Given the description of an element on the screen output the (x, y) to click on. 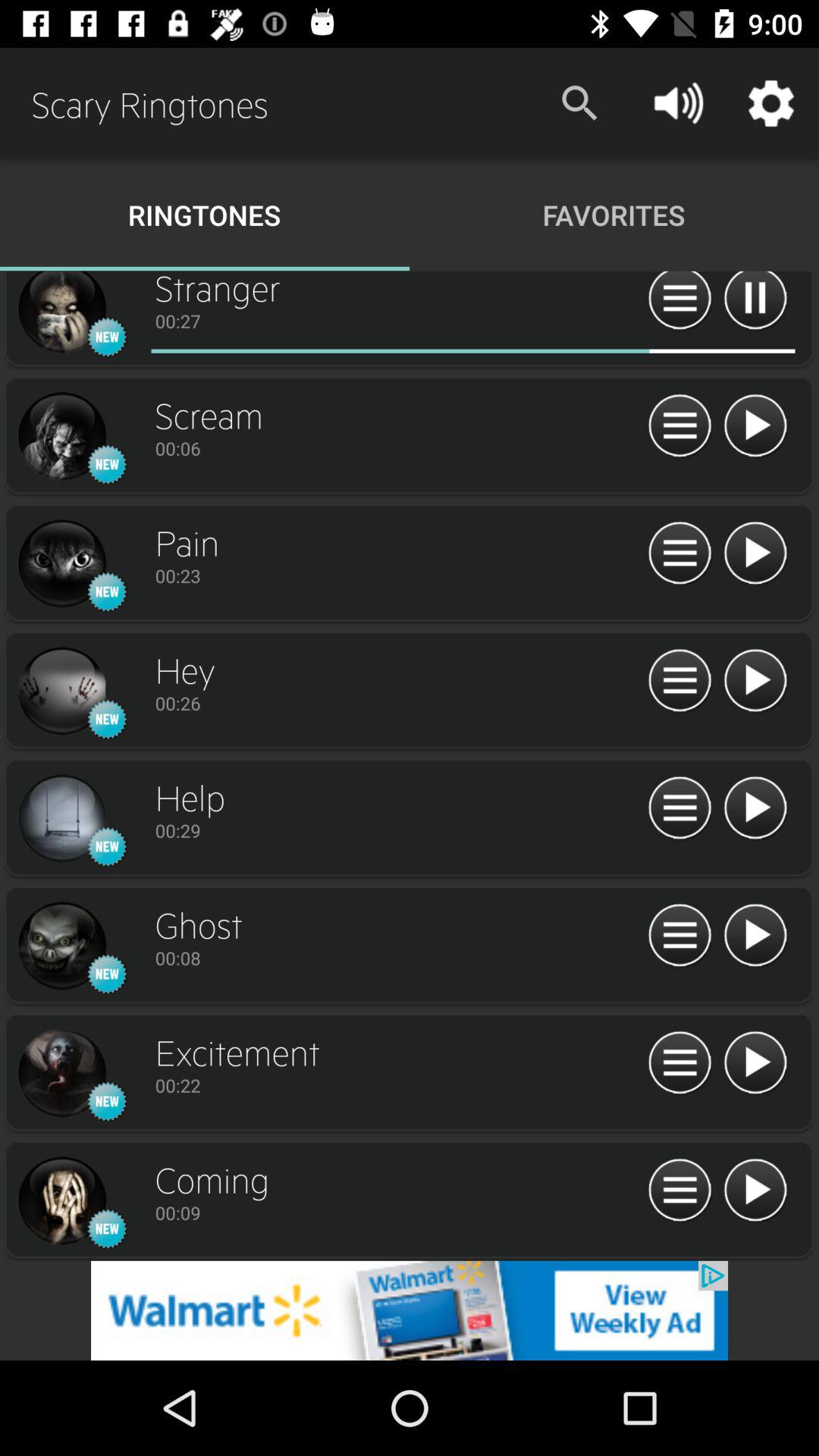
menu ringtone (679, 553)
